Given the description of an element on the screen output the (x, y) to click on. 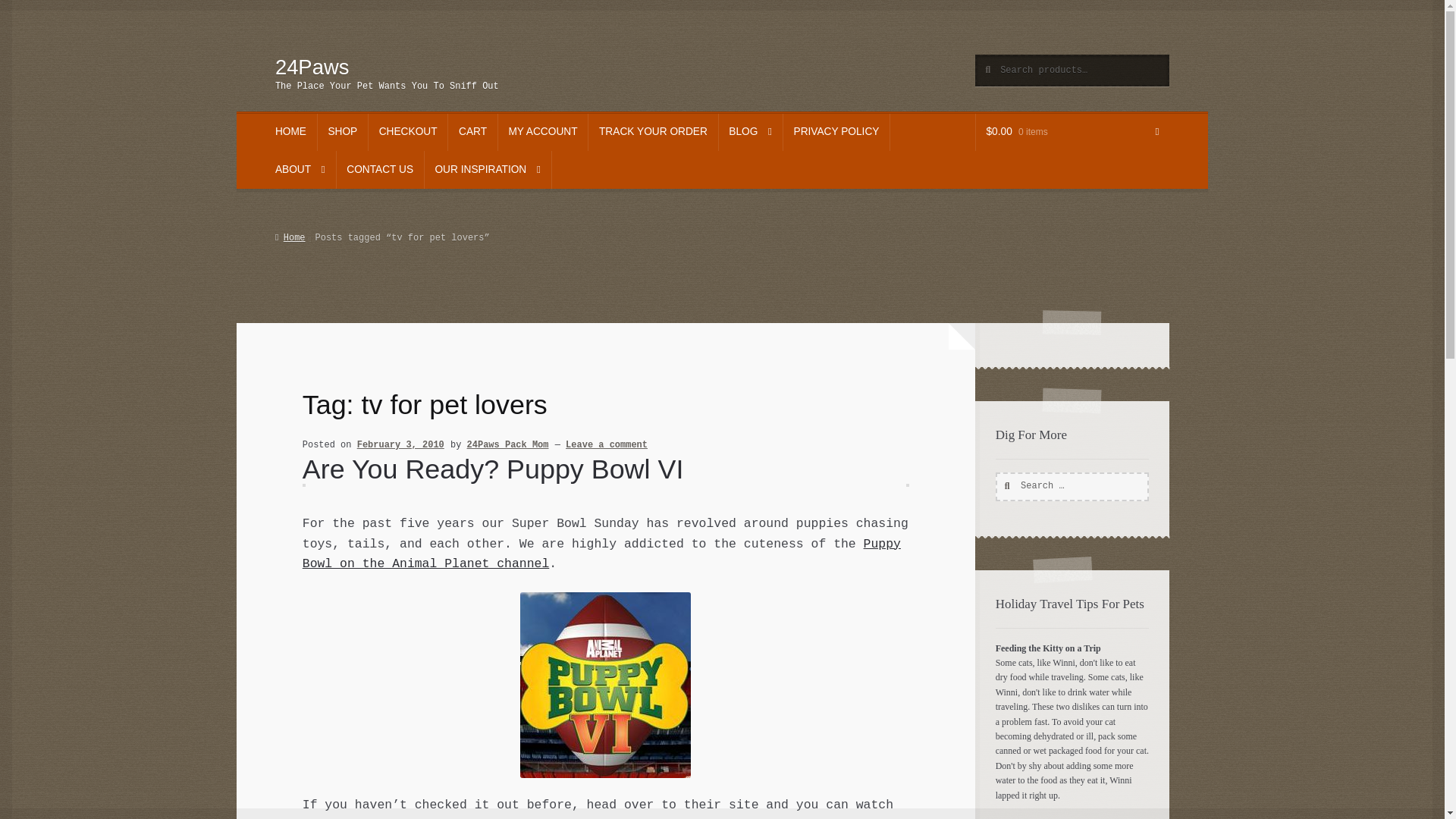
View your shopping cart (1072, 132)
CHECKOUT (407, 132)
TRACK YOUR ORDER (652, 132)
24Paws (312, 66)
OUR INSPIRATION (488, 169)
CONTACT US (379, 169)
animalplanet (604, 685)
